Given the description of an element on the screen output the (x, y) to click on. 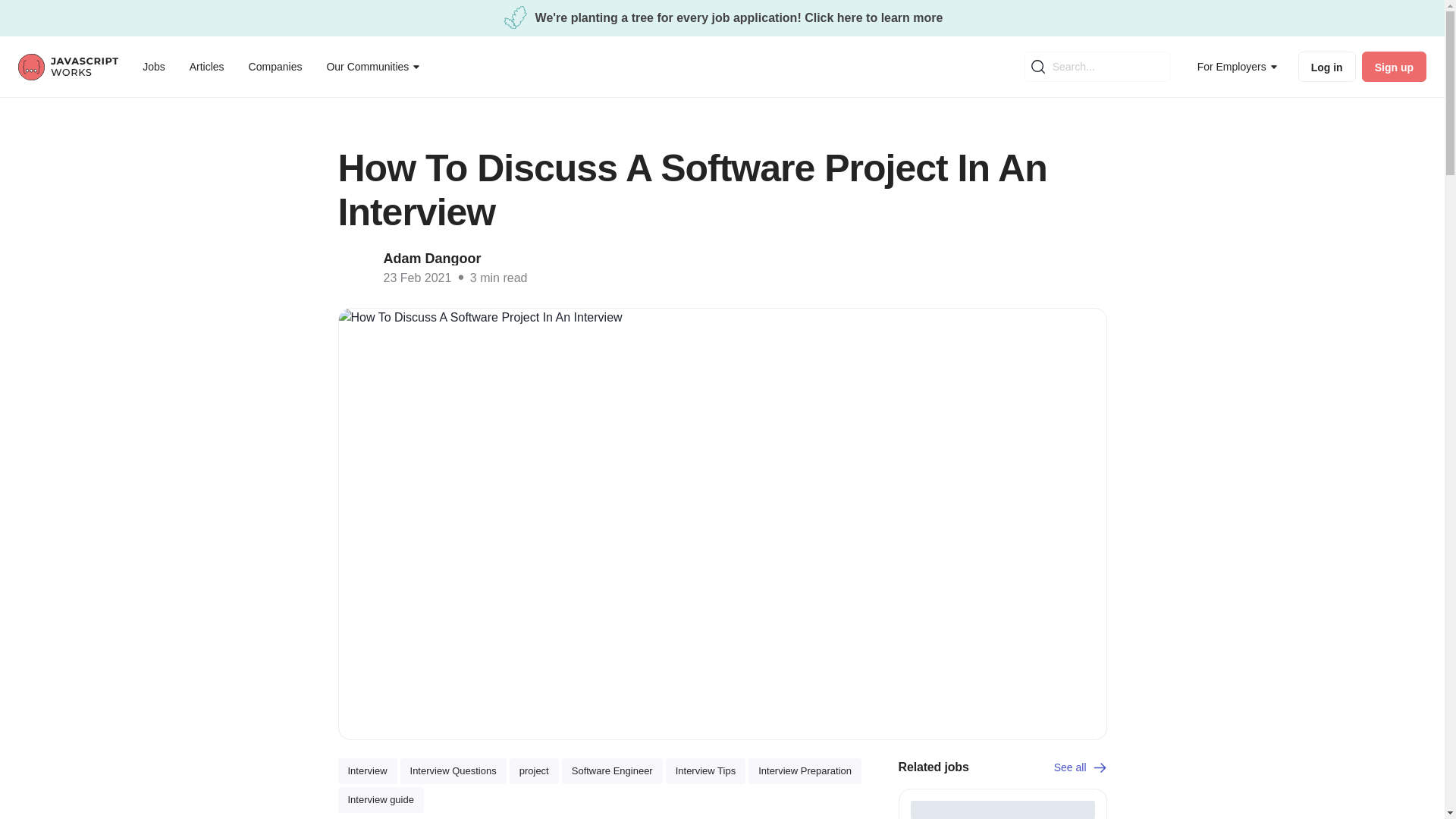
Interview Preparation (804, 770)
Log in (1326, 66)
JavaScript Works (67, 66)
project (534, 770)
Interview Questions (453, 770)
Interview guide (380, 800)
Sign up (1393, 66)
See all (1080, 767)
Interview (367, 770)
